Given the description of an element on the screen output the (x, y) to click on. 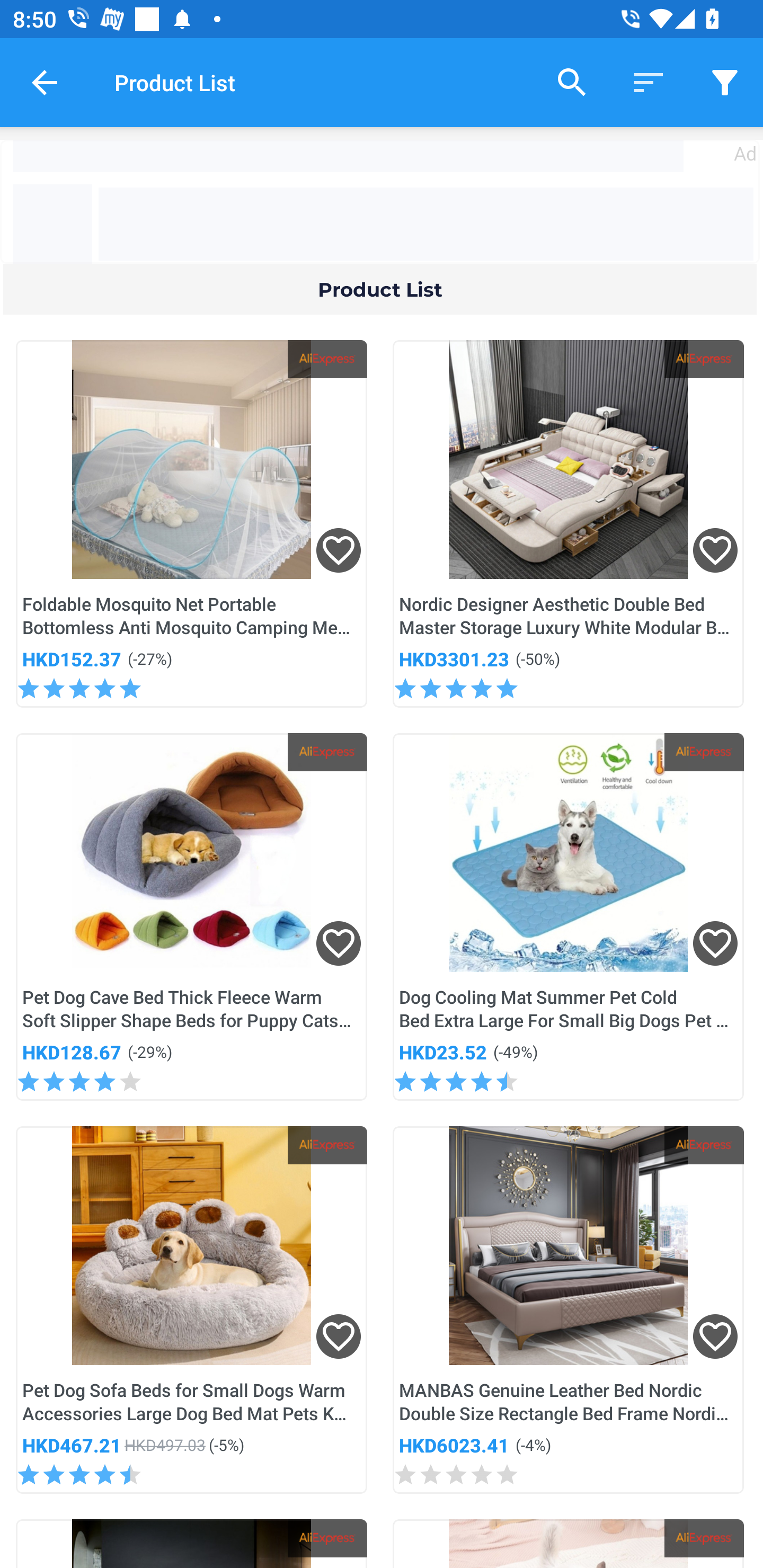
Navigate up (44, 82)
Search (572, 81)
short (648, 81)
short (724, 81)
